Given the description of an element on the screen output the (x, y) to click on. 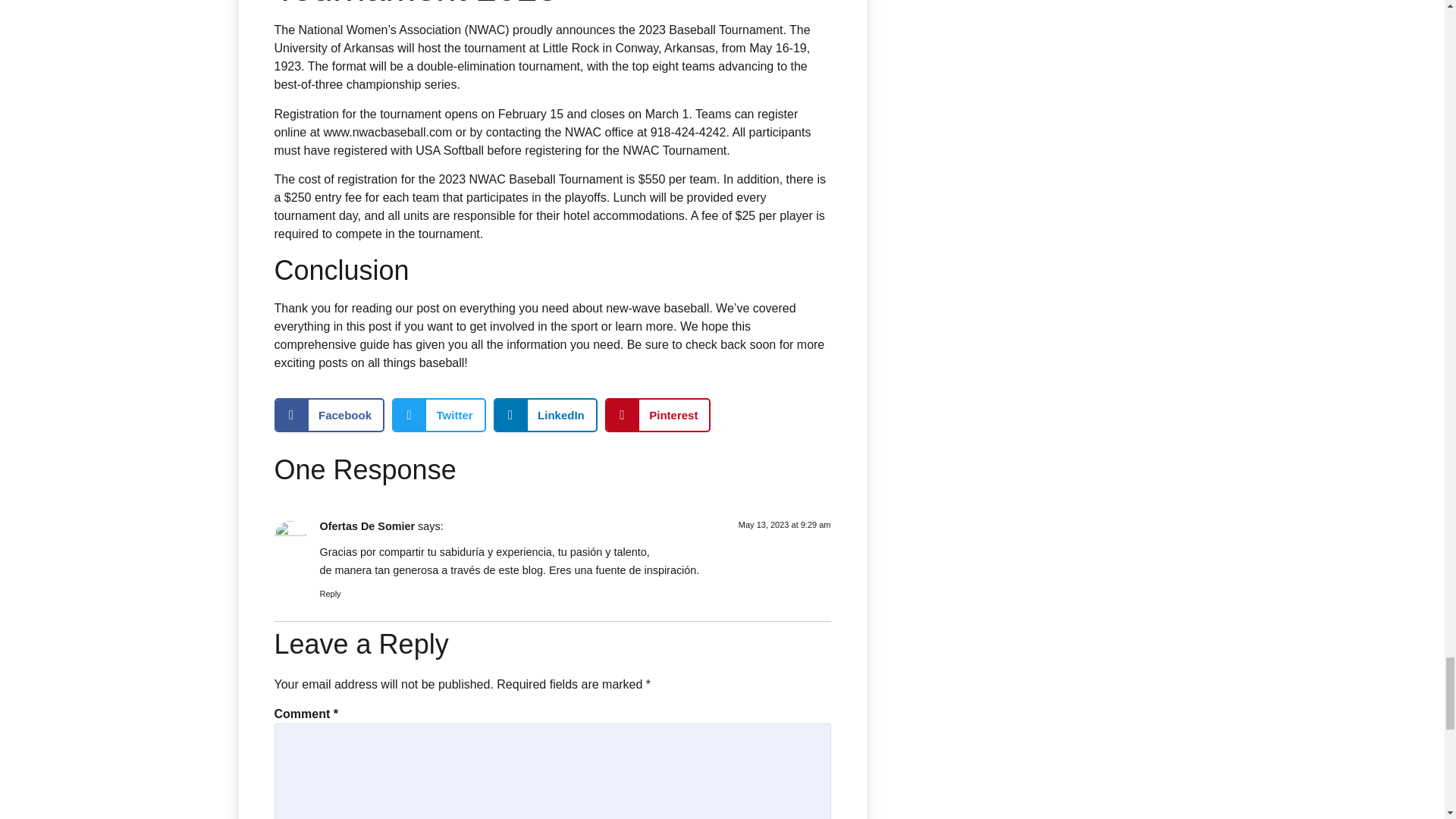
Reply (330, 593)
May 13, 2023 at 9:29 am (784, 524)
baseball (686, 308)
Ofertas De Somier (367, 526)
